Given the description of an element on the screen output the (x, y) to click on. 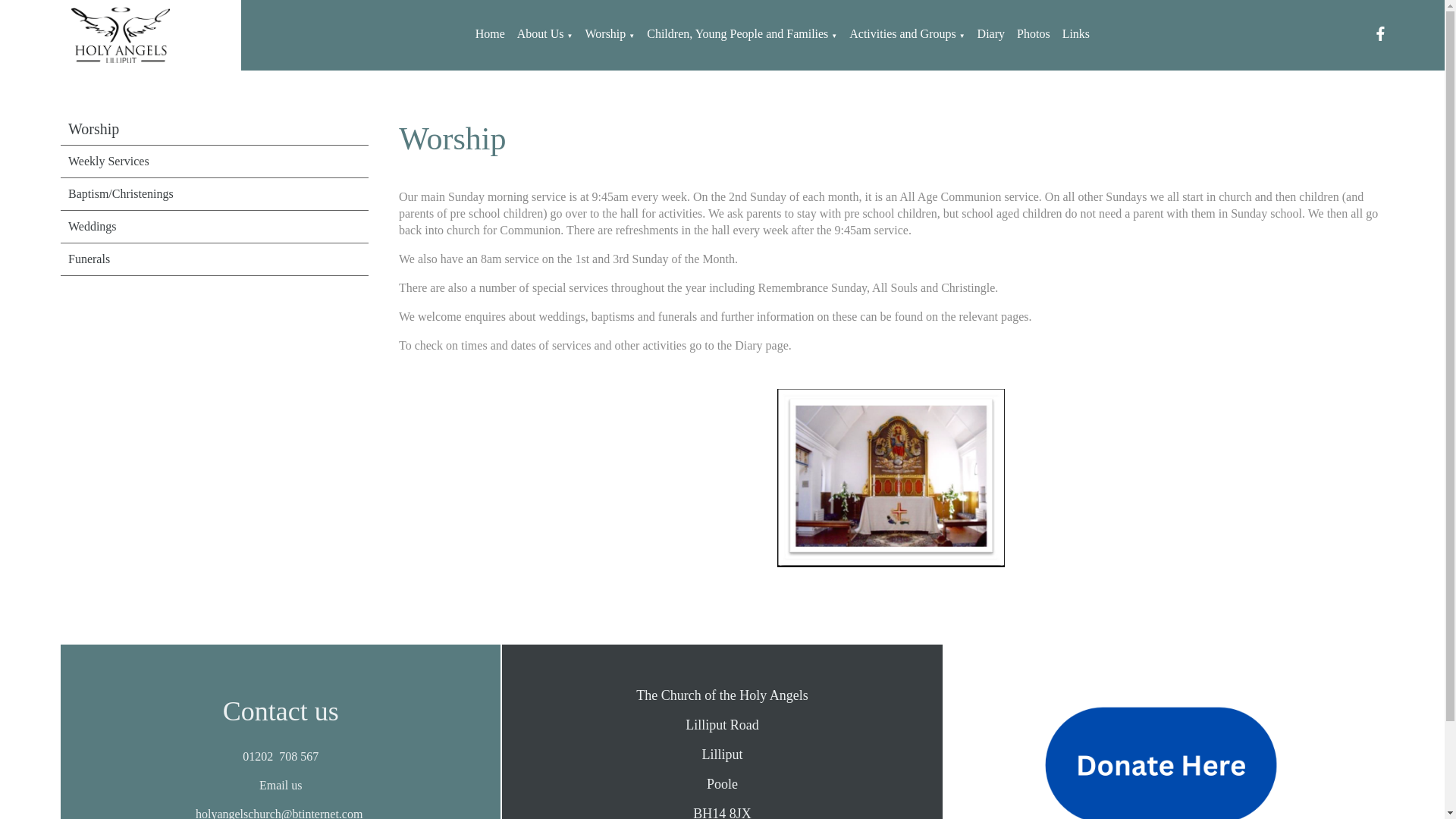
Home (490, 33)
About Us (540, 33)
